Given the description of an element on the screen output the (x, y) to click on. 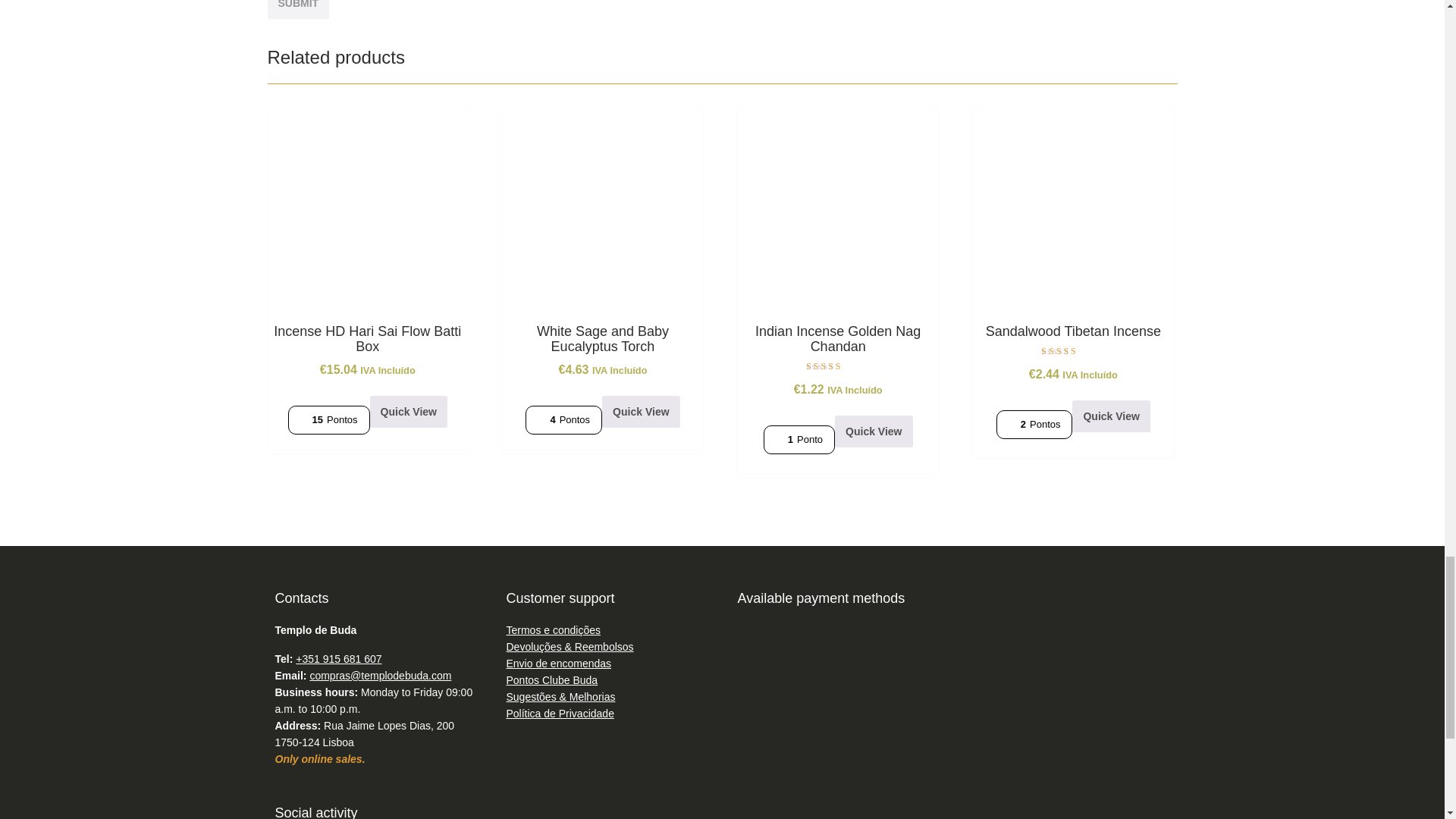
Envio de encomendas (558, 663)
Submit (297, 9)
